Given the description of an element on the screen output the (x, y) to click on. 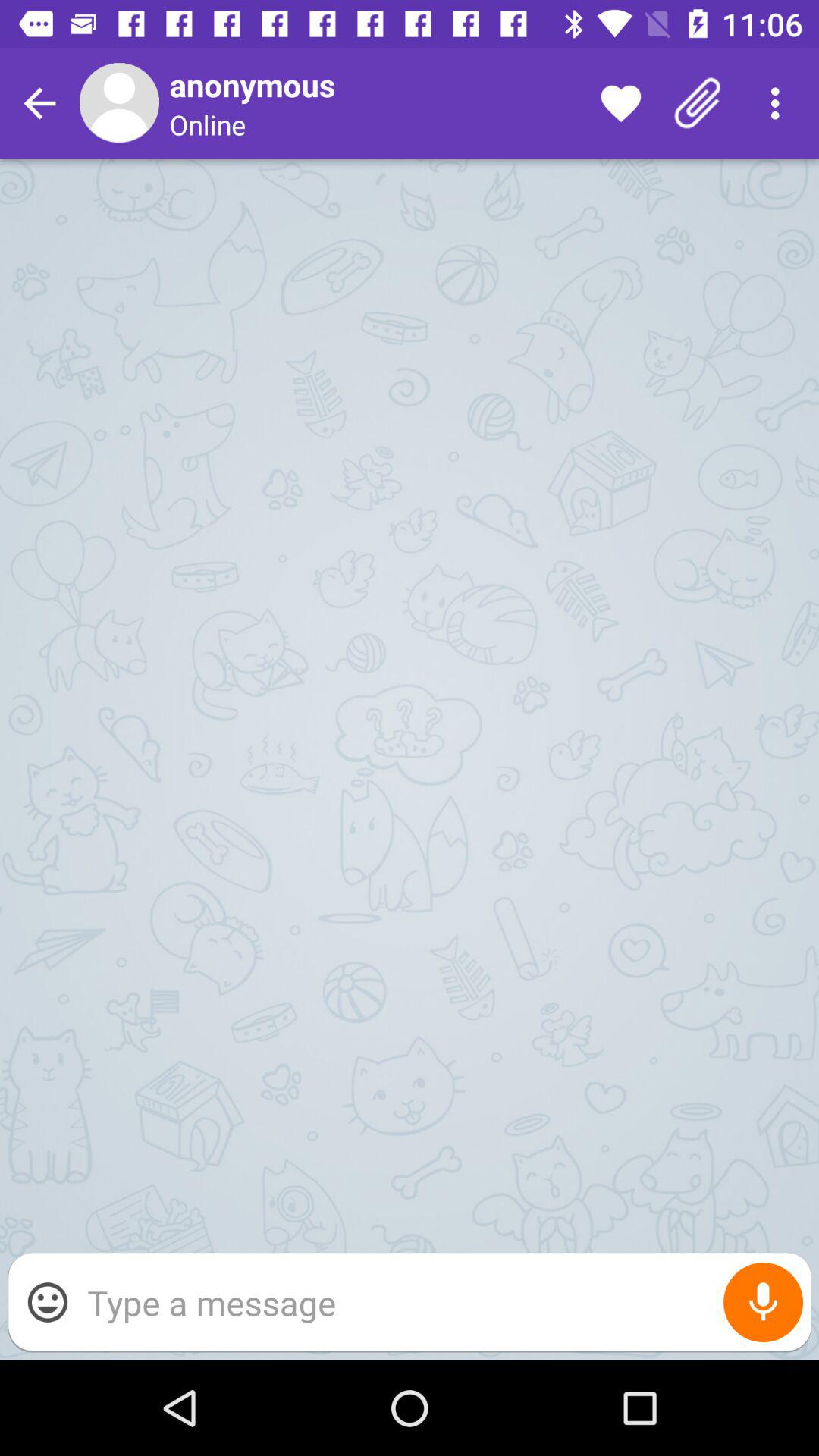
go back (39, 103)
